Given the description of an element on the screen output the (x, y) to click on. 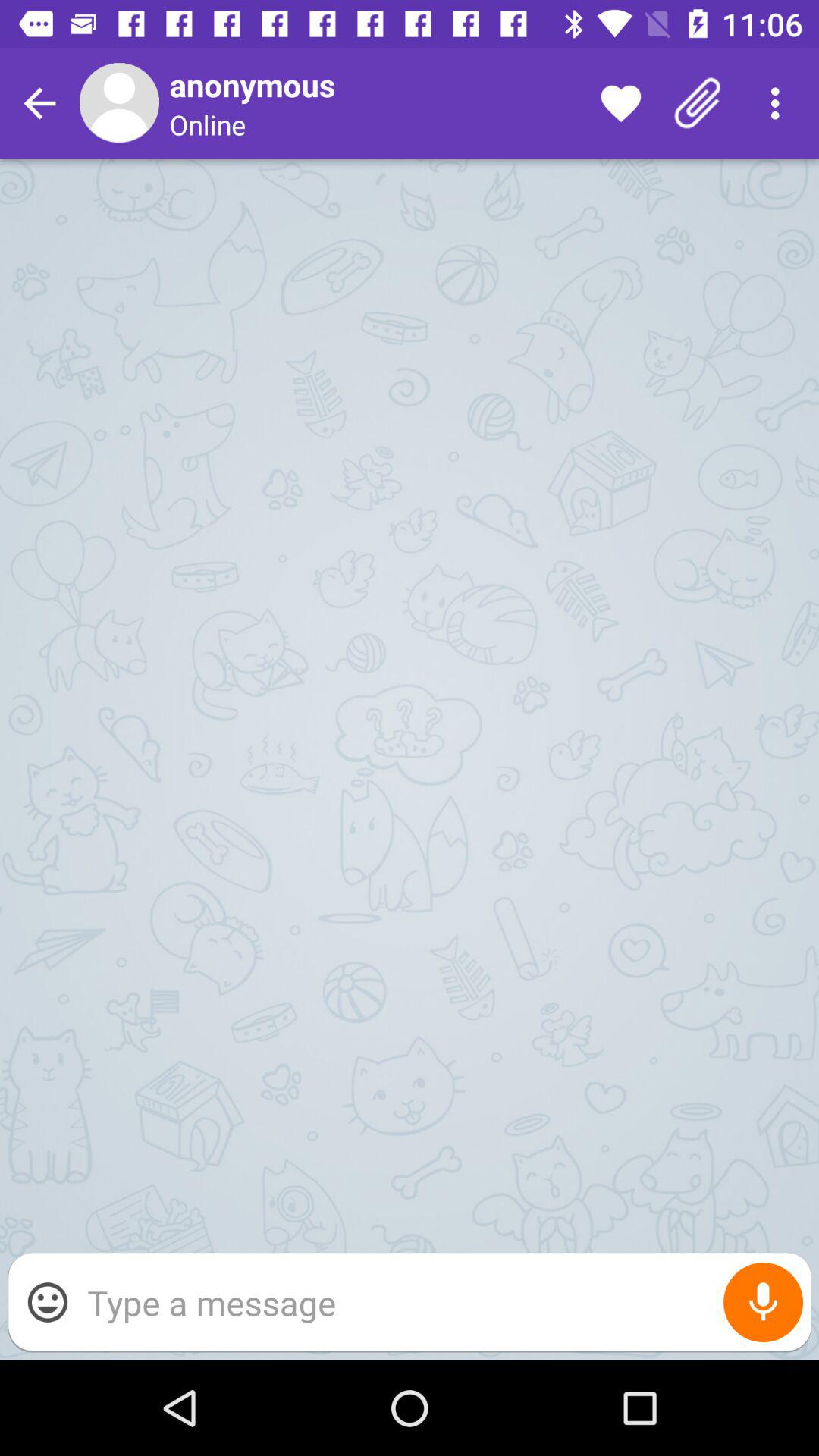
go back (39, 103)
